Given the description of an element on the screen output the (x, y) to click on. 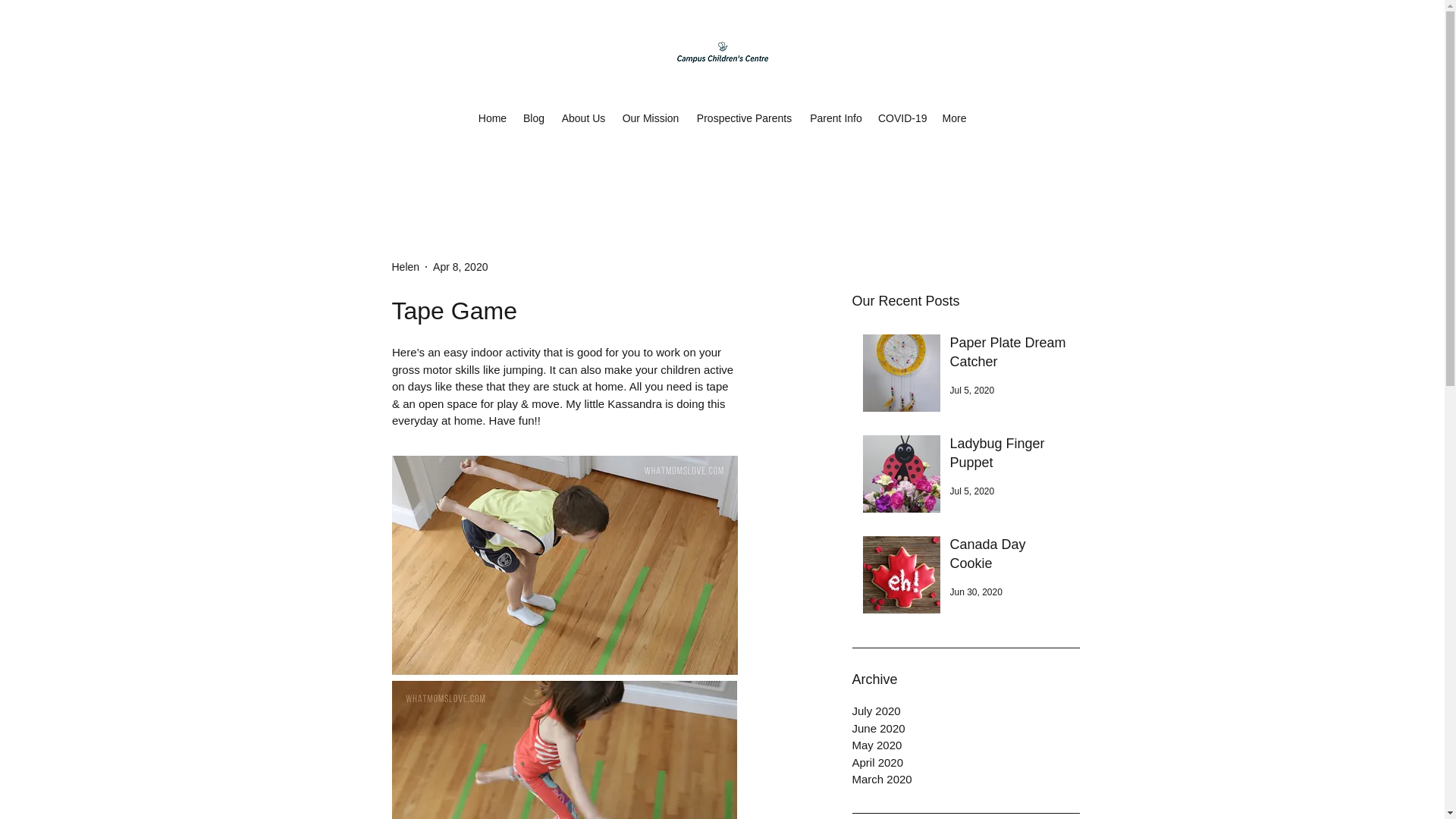
Apr 8, 2020 (459, 266)
Jul 5, 2020 (971, 491)
April 2020 (965, 762)
June 2020 (965, 728)
March 2020 (965, 779)
Jul 5, 2020 (971, 389)
Canada Day Cookie (1009, 557)
May 2020 (965, 745)
Ladybug Finger Puppet (1009, 456)
Our Mission (650, 118)
